Given the description of an element on the screen output the (x, y) to click on. 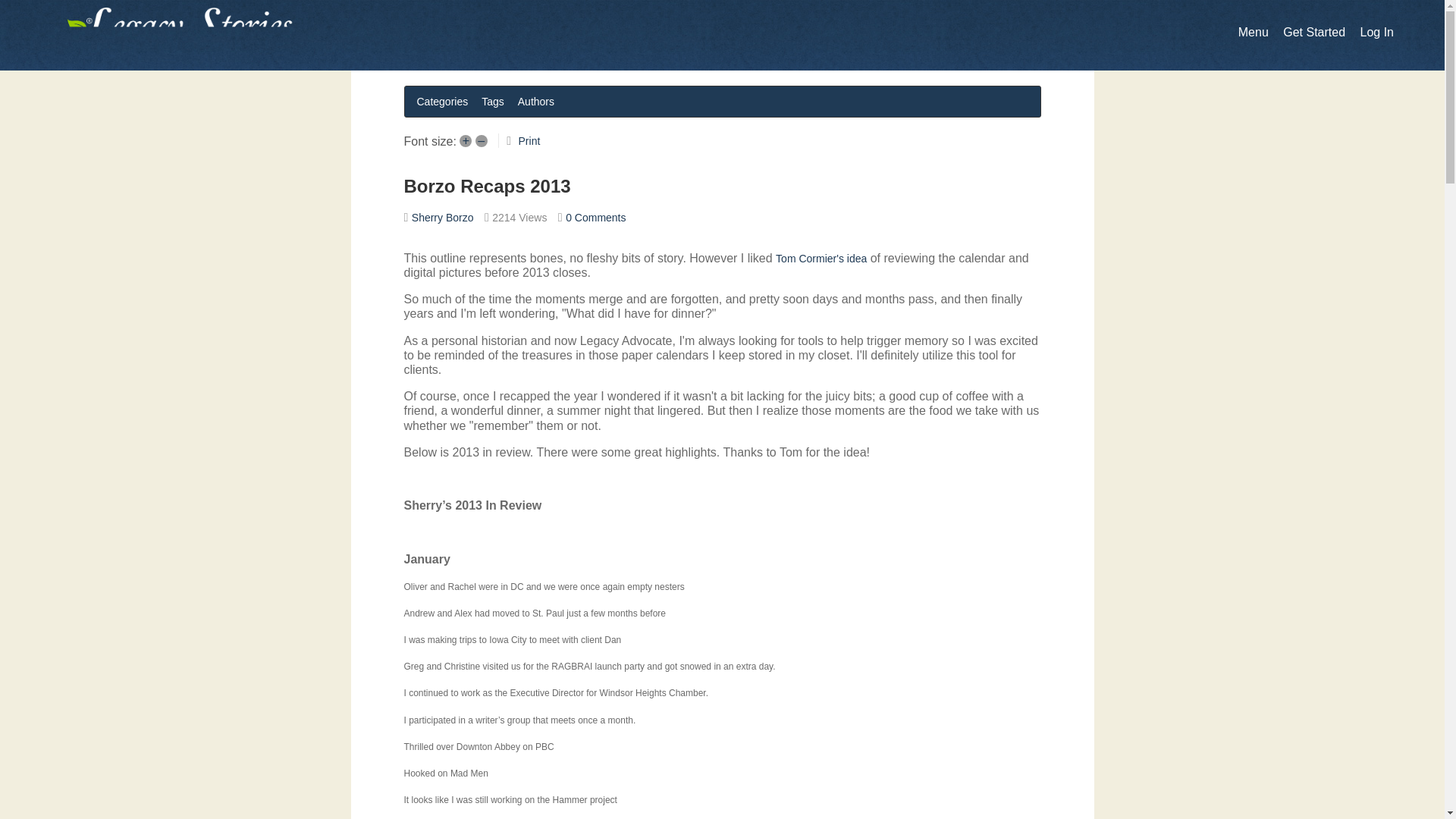
Menu (1253, 31)
Print (529, 141)
Print (529, 141)
Authors (536, 101)
Get Started (1313, 31)
Log In (1376, 31)
Sherry Borzo (443, 217)
Categories (442, 101)
Tags (493, 101)
